Given the description of an element on the screen output the (x, y) to click on. 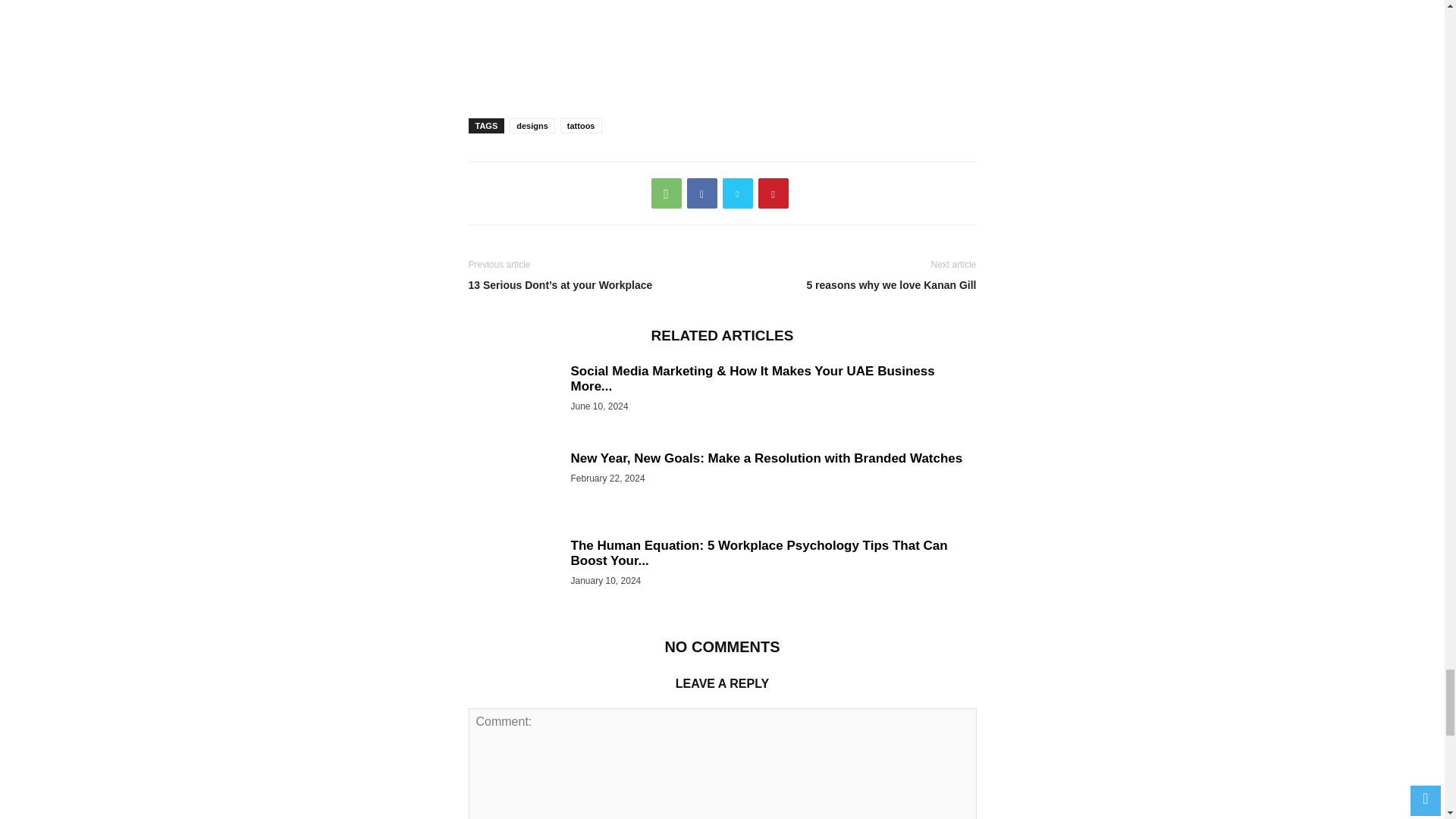
Twitter (737, 193)
WhatsApp (665, 193)
New Year, New Goals: Make a Resolution with Branded Watches (766, 458)
Pinterest (773, 193)
designs (531, 125)
tattoos (581, 125)
Facebook (702, 193)
5 reasons why we love Kanan Gill (852, 285)
